Given the description of an element on the screen output the (x, y) to click on. 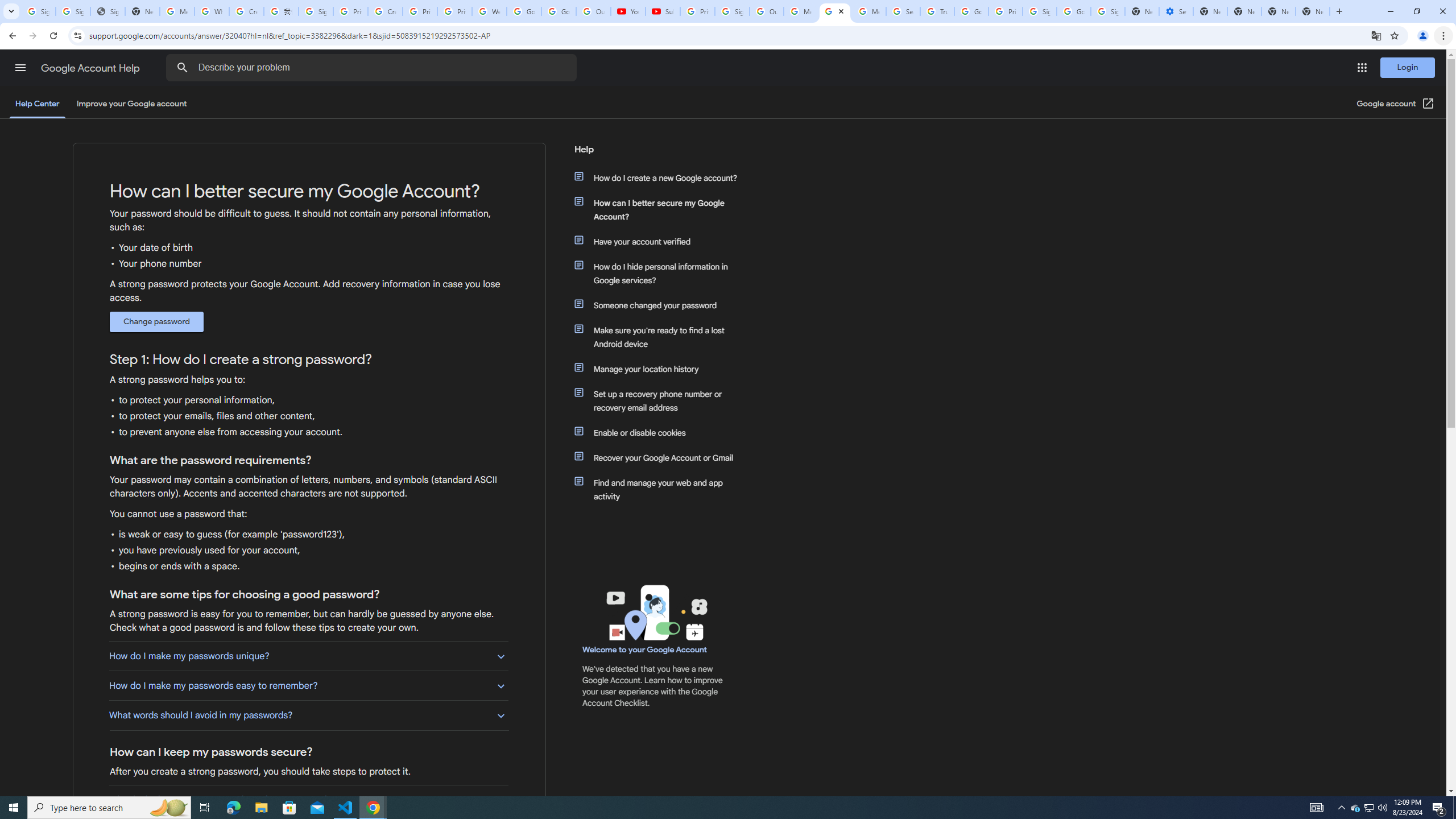
What words should I avoid in my passwords? (308, 715)
Sign in - Google Accounts (73, 11)
Search the Help Center (181, 67)
Settings - Performance (1176, 11)
Describe your problem (373, 67)
Google Cybersecurity Innovations - Google Safety Center (1073, 11)
Main menu (20, 67)
